Given the description of an element on the screen output the (x, y) to click on. 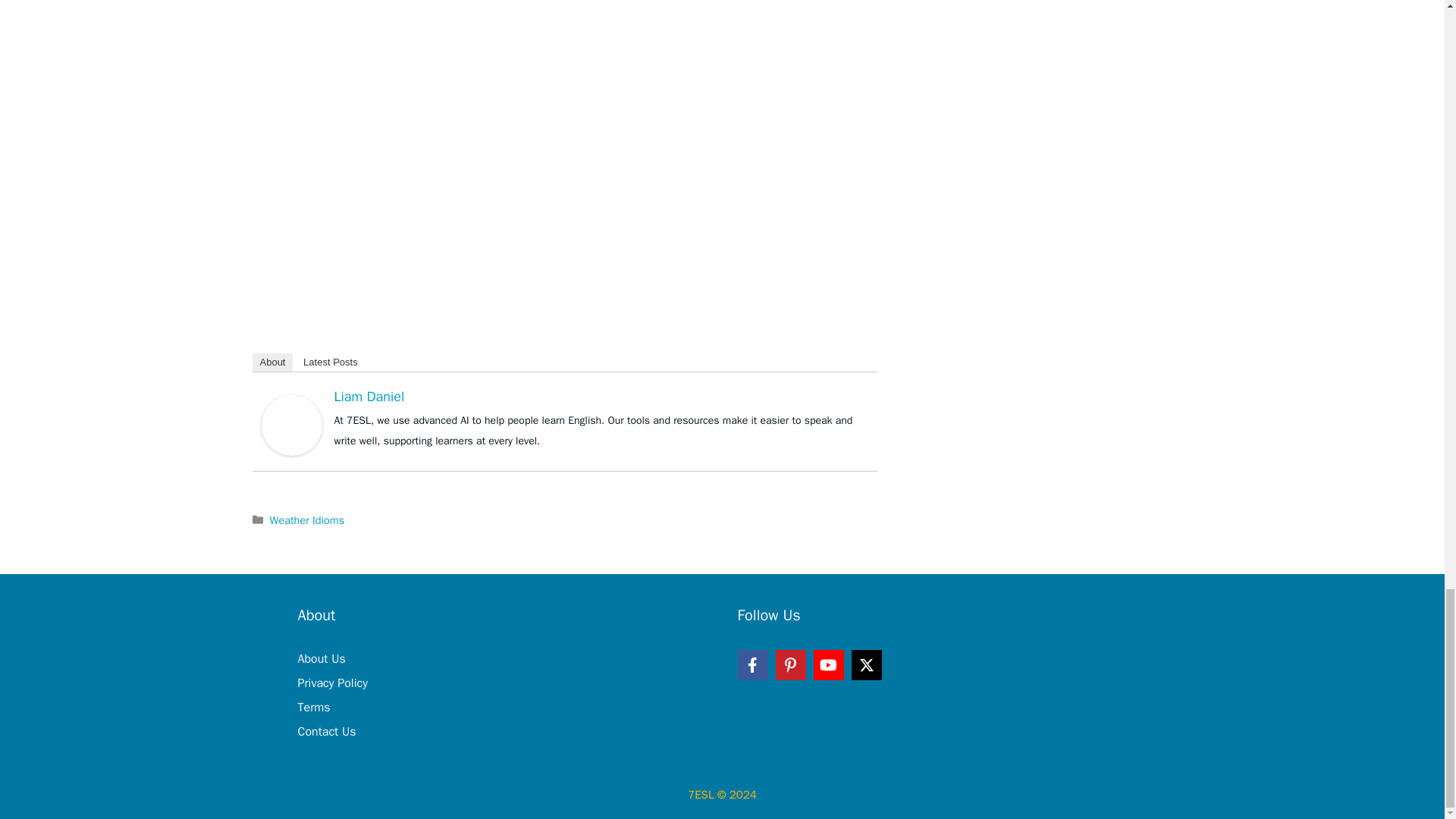
Liam Daniel (290, 424)
About (271, 361)
Liam Daniel (368, 396)
Weather Idioms (307, 520)
Latest Posts (330, 361)
